Given the description of an element on the screen output the (x, y) to click on. 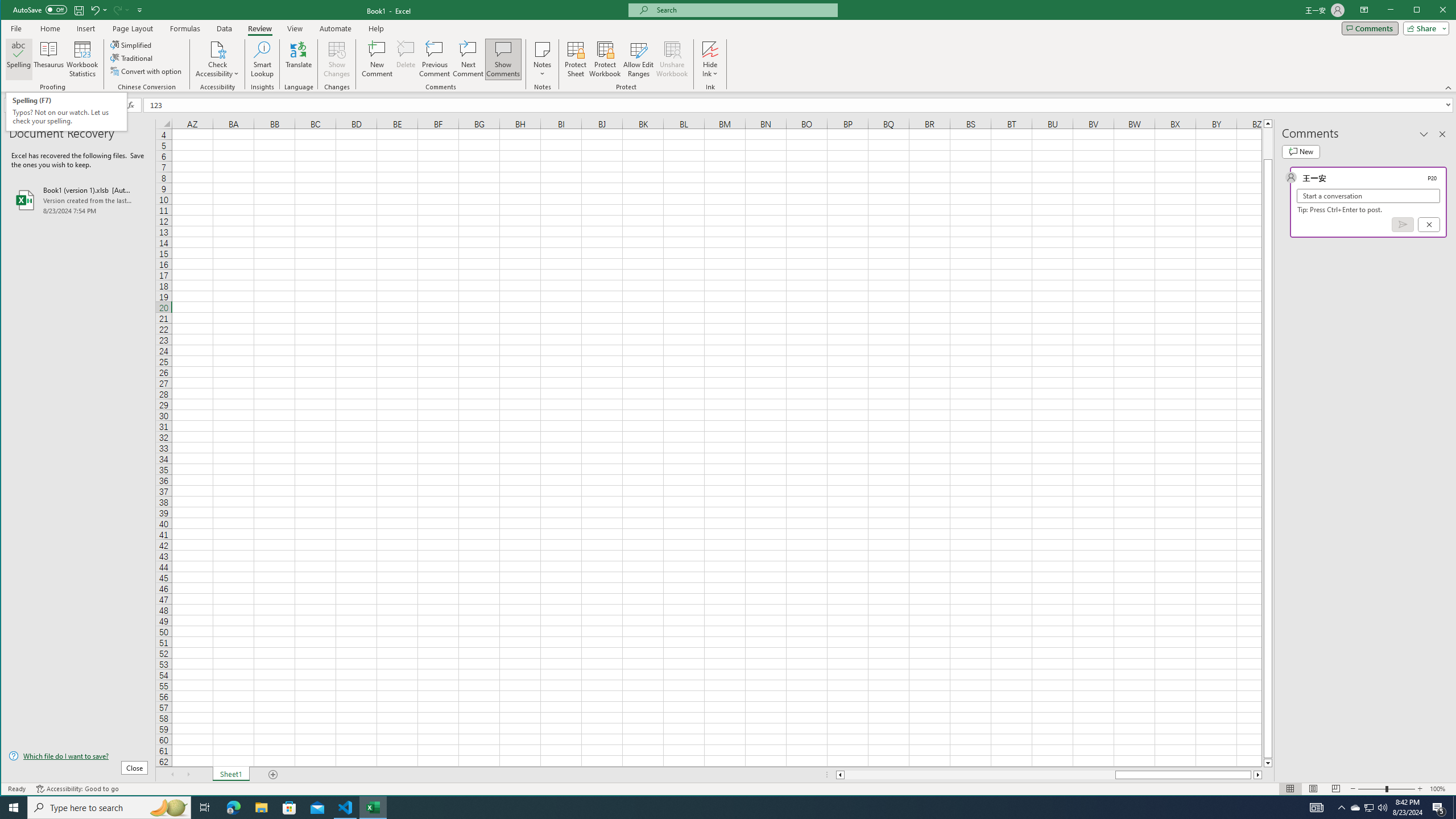
Spelling... (18, 59)
Show Changes (335, 59)
User Promoted Notification Area (1368, 807)
Unshare Workbook (671, 59)
Delete (405, 59)
Page up (1267, 142)
Excel - 1 running window (373, 807)
Microsoft Edge (233, 807)
